Given the description of an element on the screen output the (x, y) to click on. 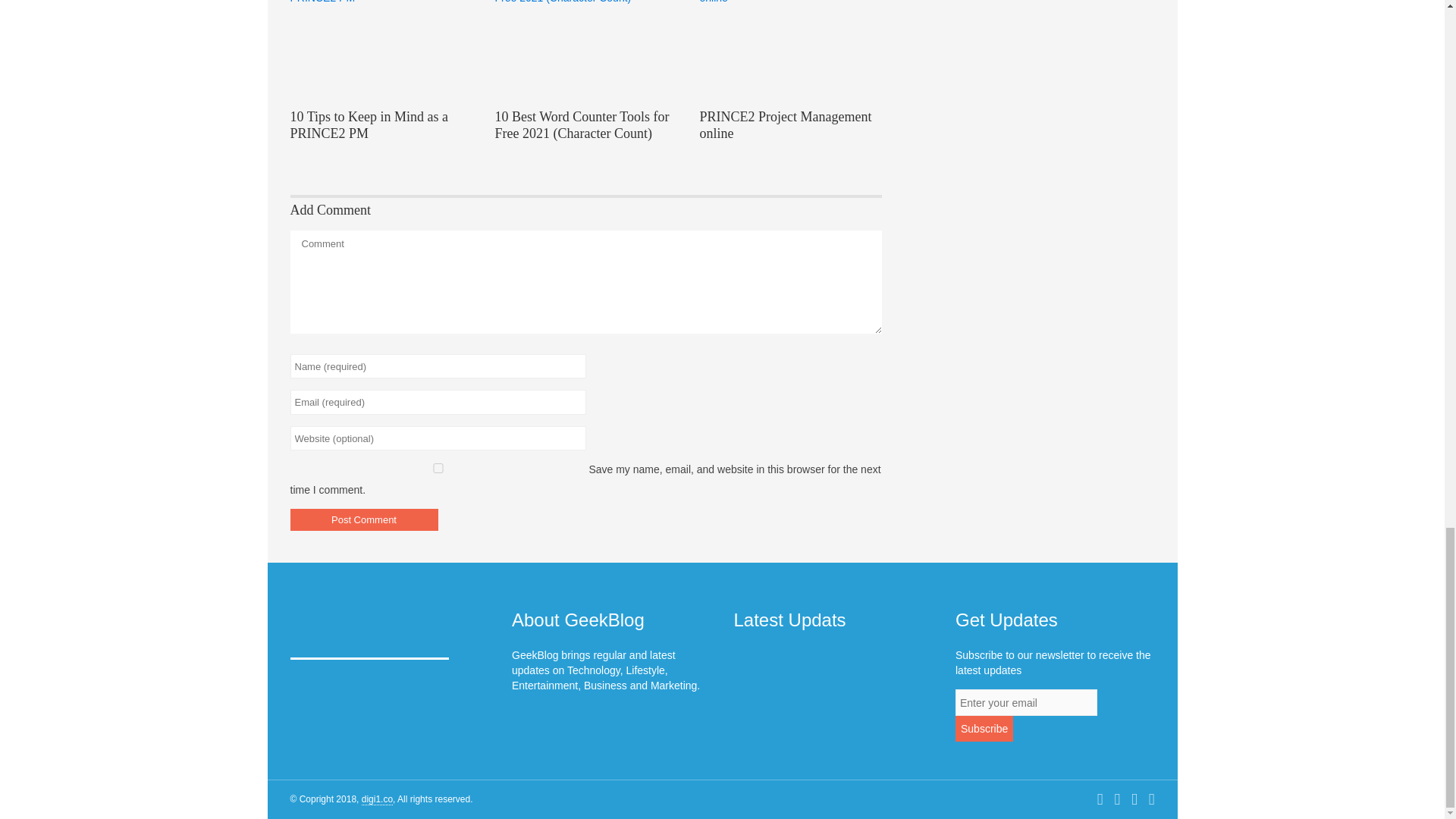
yes (437, 468)
Post Comment (363, 519)
